Given the description of an element on the screen output the (x, y) to click on. 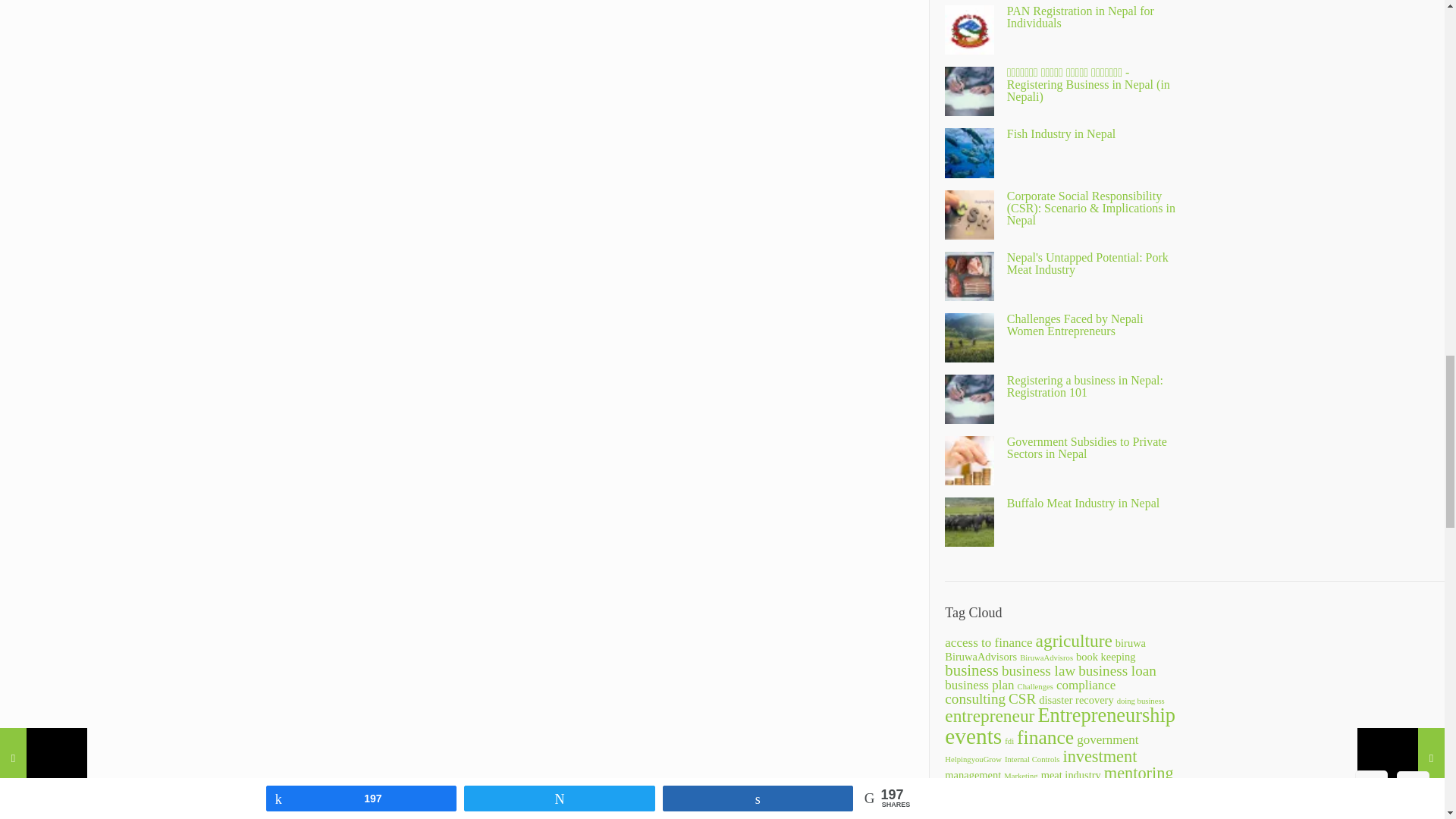
Nepal's Untapped Potential: Pork Meat Industry (1088, 263)
Fish Industry in Nepal (1061, 133)
PAN Registration in Nepal for Individuals (1080, 16)
